Given the description of an element on the screen output the (x, y) to click on. 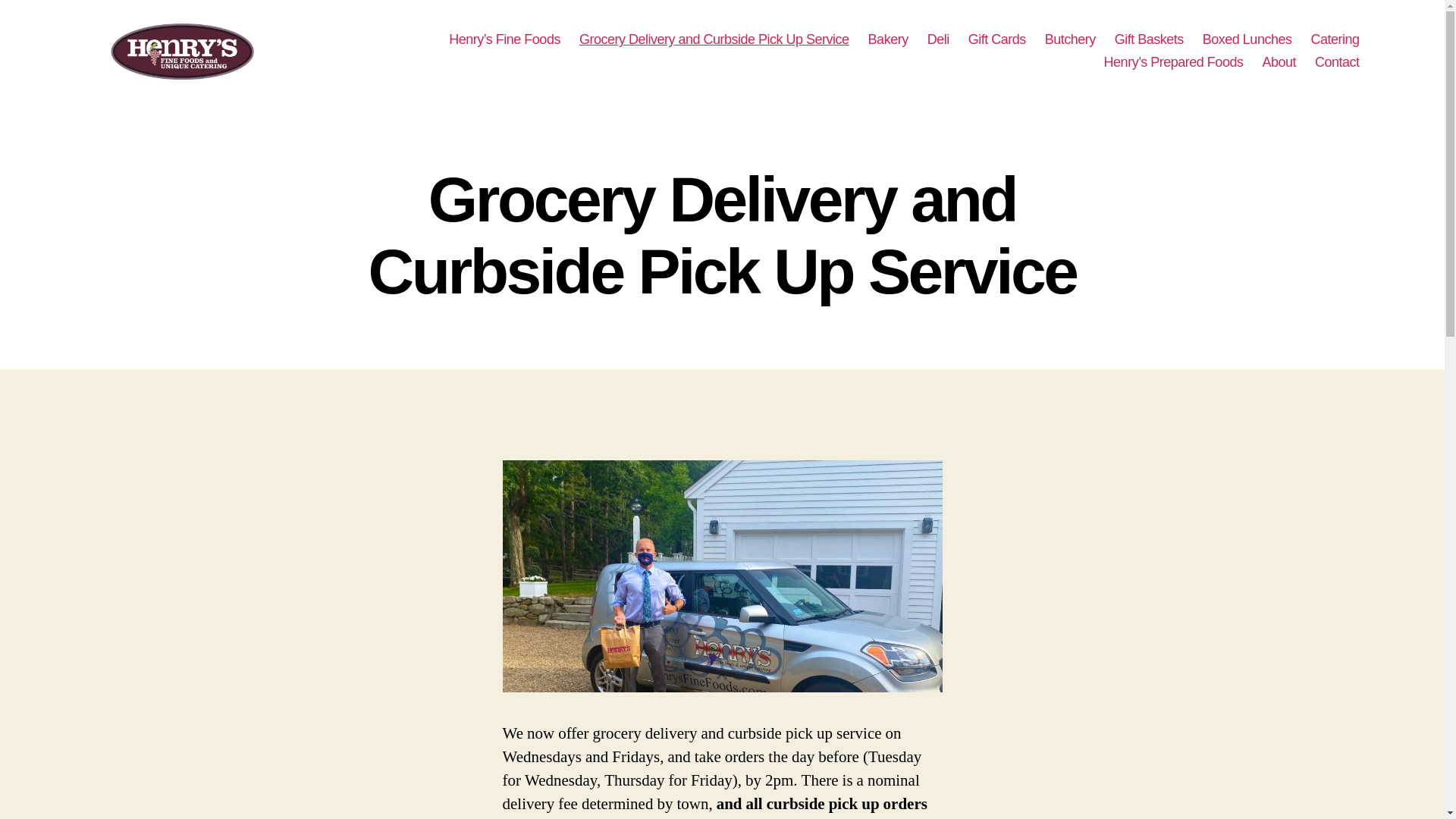
Deli (938, 39)
Butchery (1070, 39)
About (1278, 62)
Catering (1334, 39)
Gift Cards (997, 39)
Grocery Delivery and Curbside Pick Up Service (713, 39)
Contact (1336, 62)
Gift Baskets (1149, 39)
Bakery (887, 39)
Boxed Lunches (1247, 39)
